Given the description of an element on the screen output the (x, y) to click on. 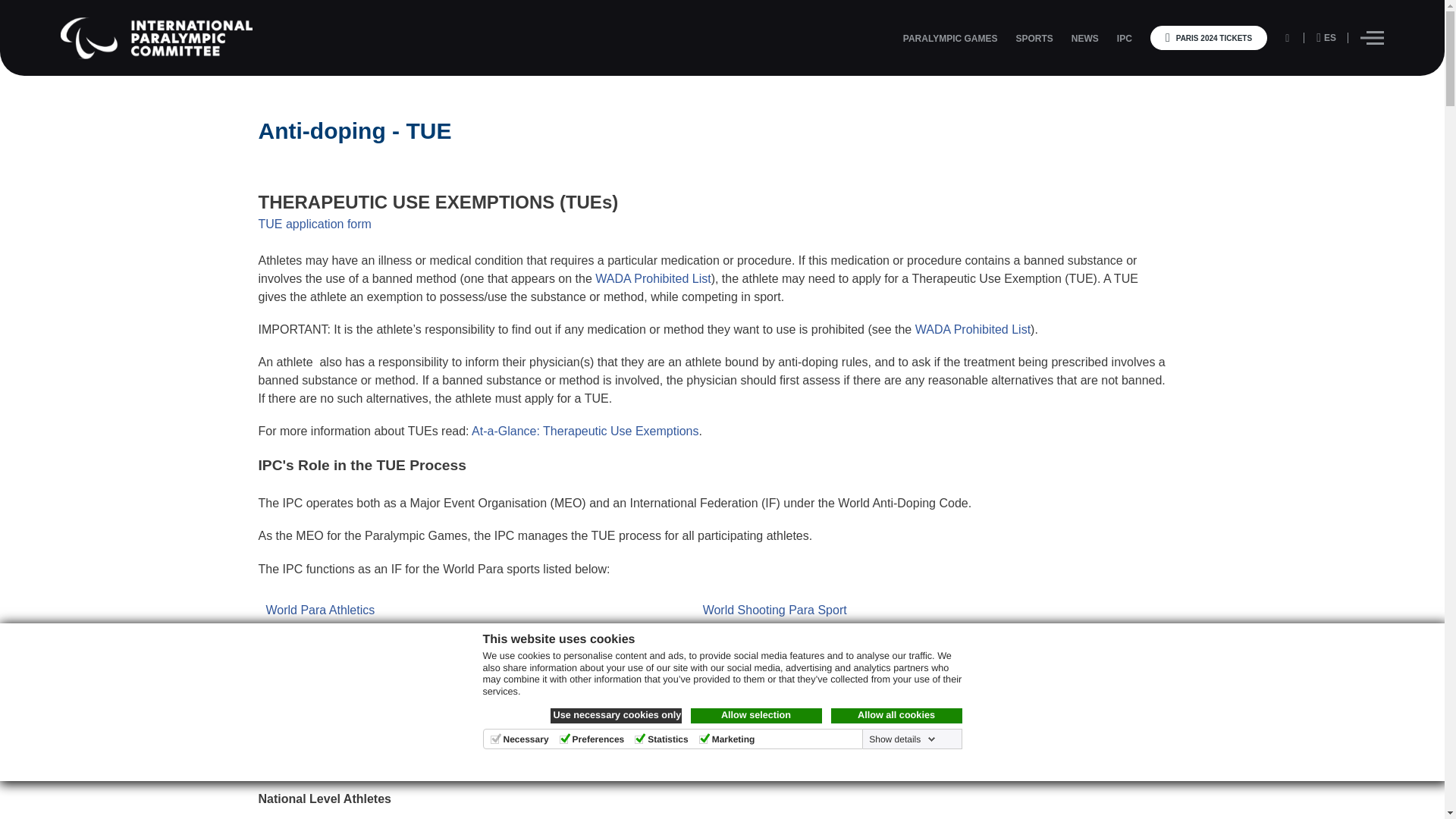
Show details (900, 739)
Allow all cookies (896, 715)
Allow selection (755, 715)
Use necessary cookies only (615, 715)
